Given the description of an element on the screen output the (x, y) to click on. 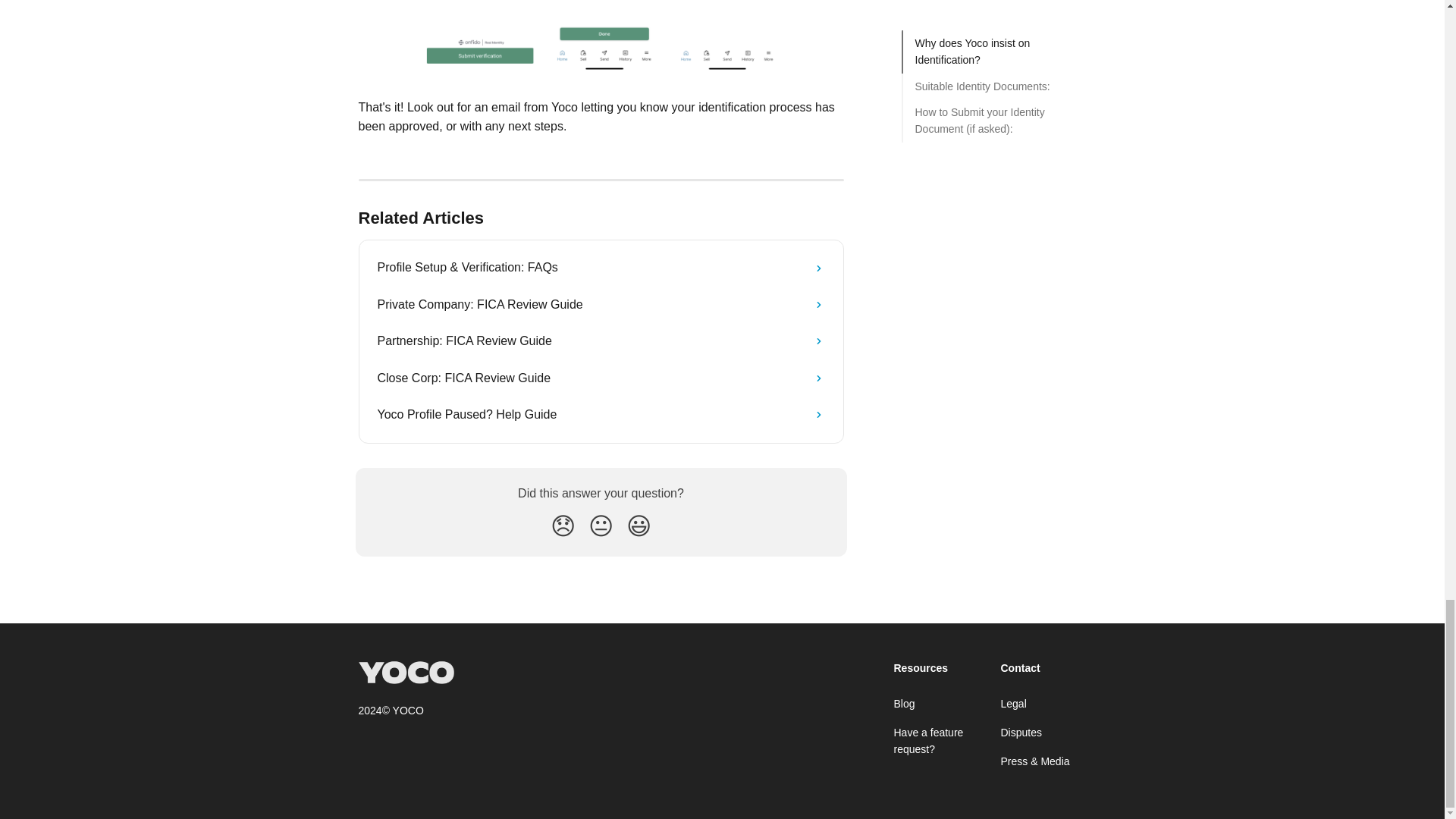
Disappointed (562, 525)
Disputes (1021, 732)
Partnership: FICA Review Guide (601, 340)
Yoco Profile Paused? Help Guide (601, 414)
Smiley (638, 525)
Close Corp: FICA Review Guide (601, 378)
Have a feature request? (927, 740)
Private Company: FICA Review Guide (601, 304)
Neutral (600, 525)
Legal (1013, 703)
Blog (903, 703)
